Given the description of an element on the screen output the (x, y) to click on. 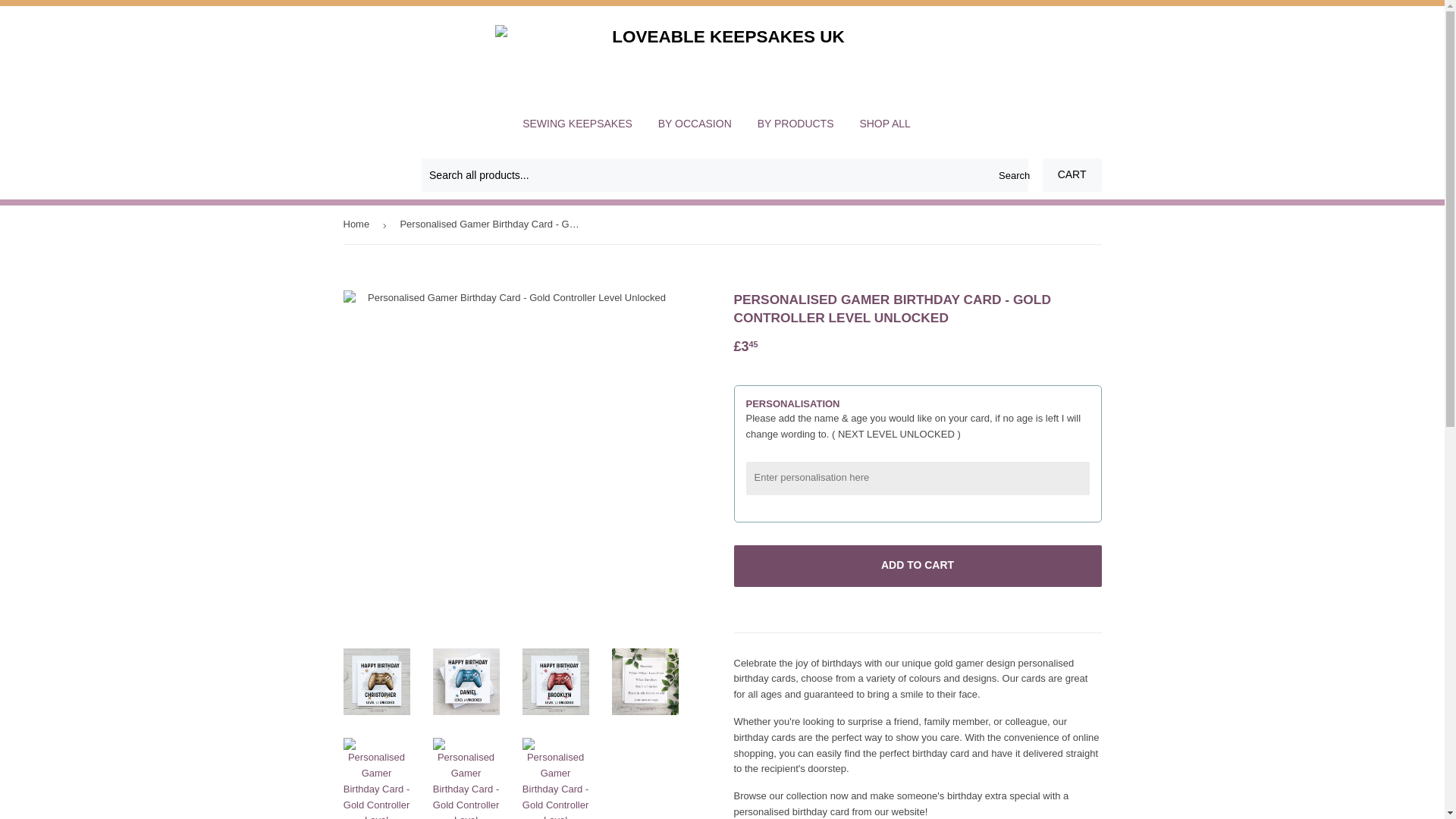
BY PRODUCTS (795, 123)
BY OCCASION (694, 123)
SEWING KEEPSAKES (577, 123)
SHOP ALL (884, 123)
CART (1072, 174)
Search (1010, 175)
Back to the frontpage (358, 224)
